Given the description of an element on the screen output the (x, y) to click on. 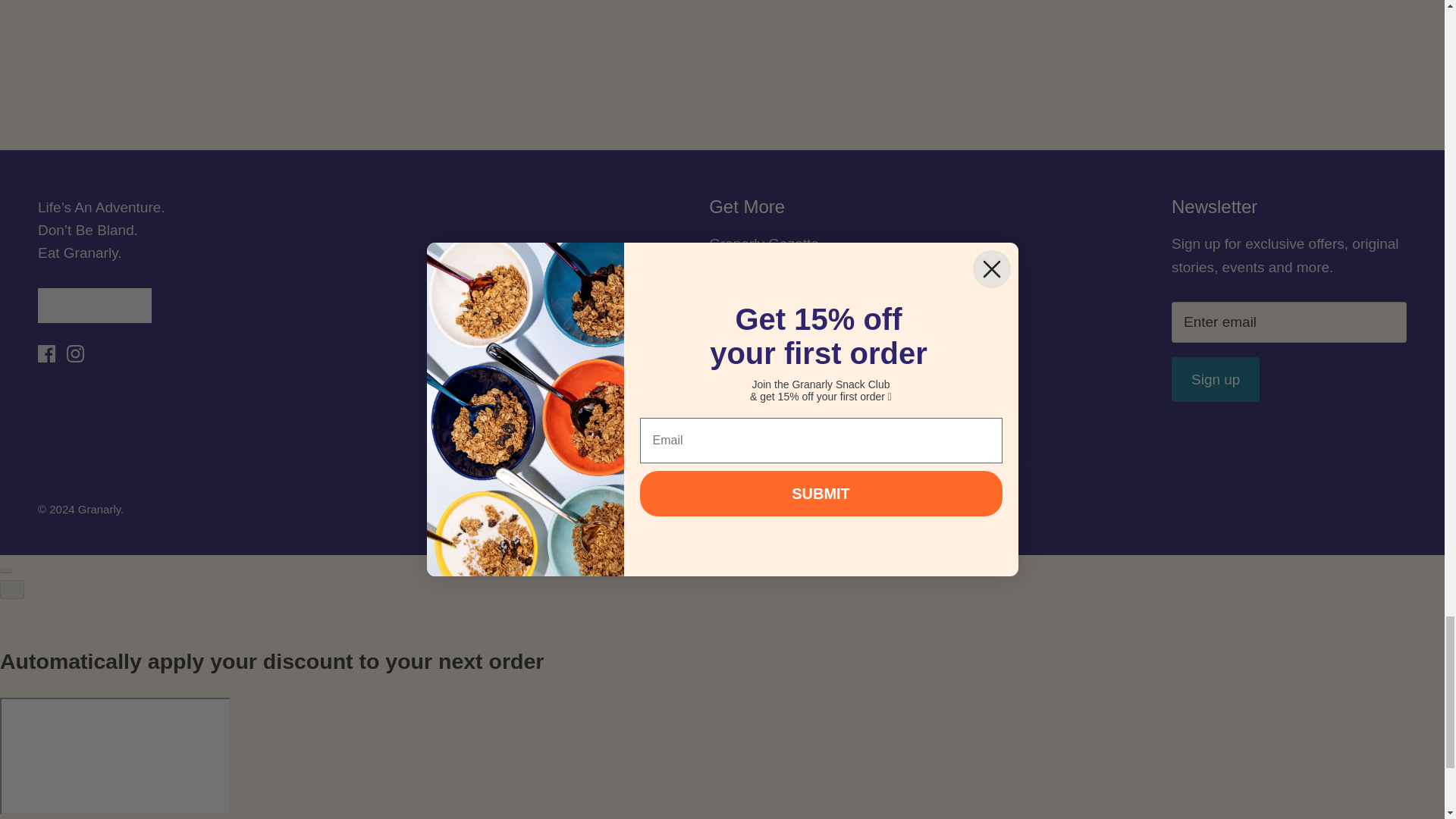
Instagram (75, 353)
Facebook (46, 353)
